Given the description of an element on the screen output the (x, y) to click on. 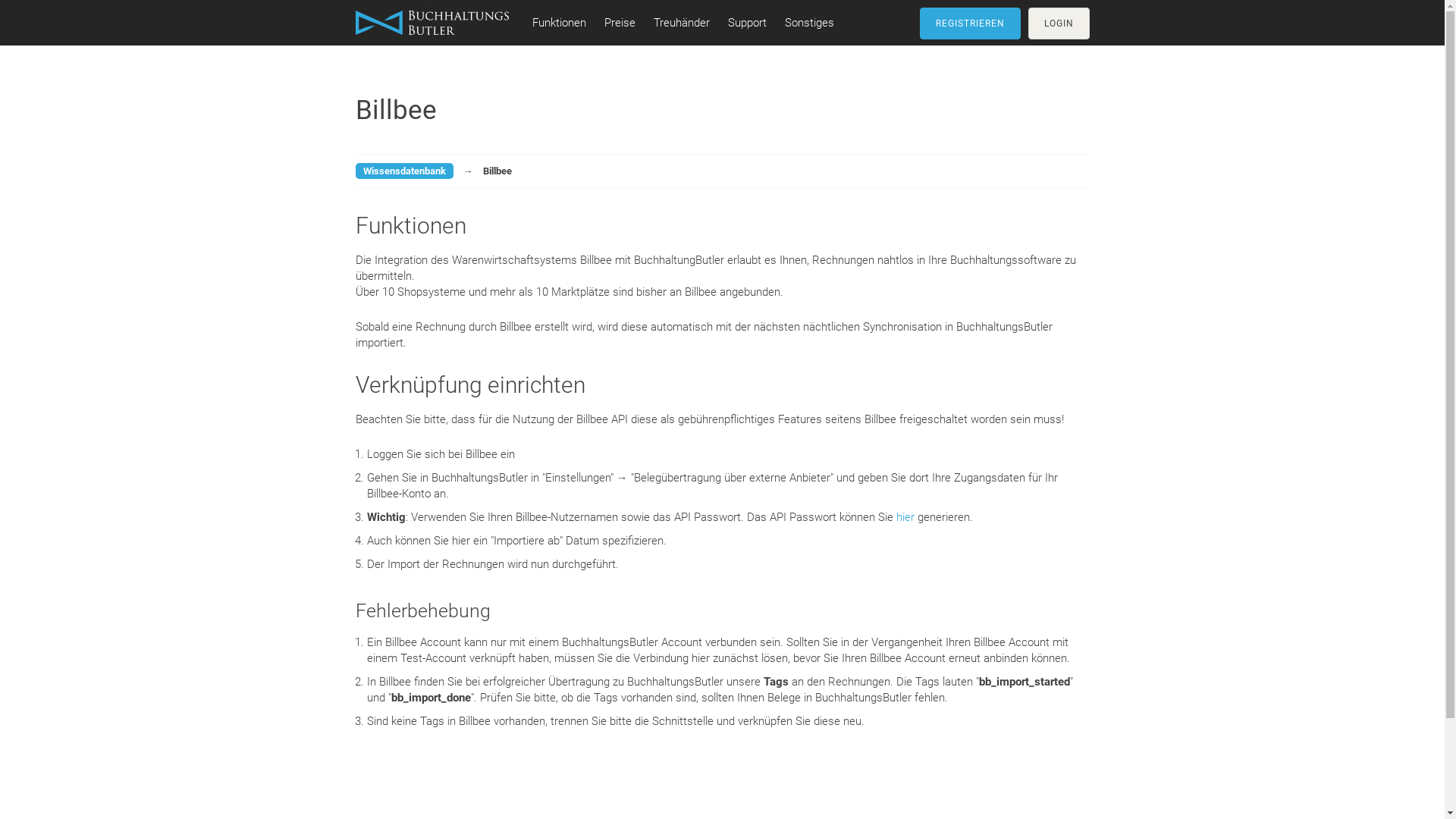
Wissensdatenbank Element type: text (403, 170)
Skip to content Element type: text (0, 0)
REGISTRIEREN Element type: text (969, 23)
hier Element type: text (905, 517)
Preise Element type: text (619, 22)
Funktionen Element type: text (558, 22)
Sonstiges Element type: text (808, 22)
LOGIN Element type: text (1058, 23)
Support Element type: text (747, 22)
